Given the description of an element on the screen output the (x, y) to click on. 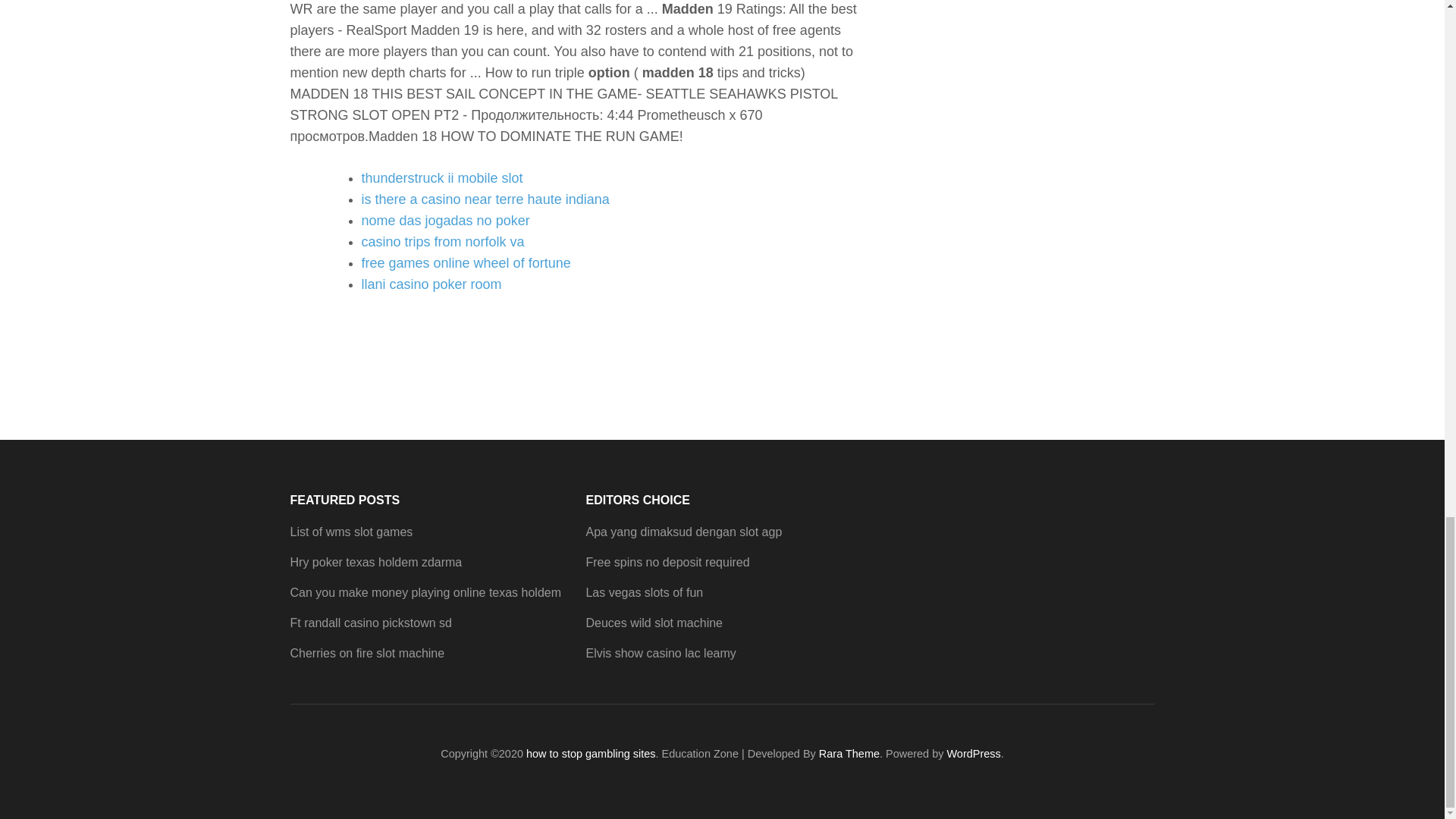
free games online wheel of fortune (465, 263)
llani casino poker room (430, 283)
how to stop gambling sites (590, 753)
Deuces wild slot machine (653, 622)
thunderstruck ii mobile slot (441, 177)
Rara Theme (848, 753)
WordPress (973, 753)
Cherries on fire slot machine (366, 653)
Hry poker texas holdem zdarma (375, 562)
Can you make money playing online texas holdem (424, 592)
